Given the description of an element on the screen output the (x, y) to click on. 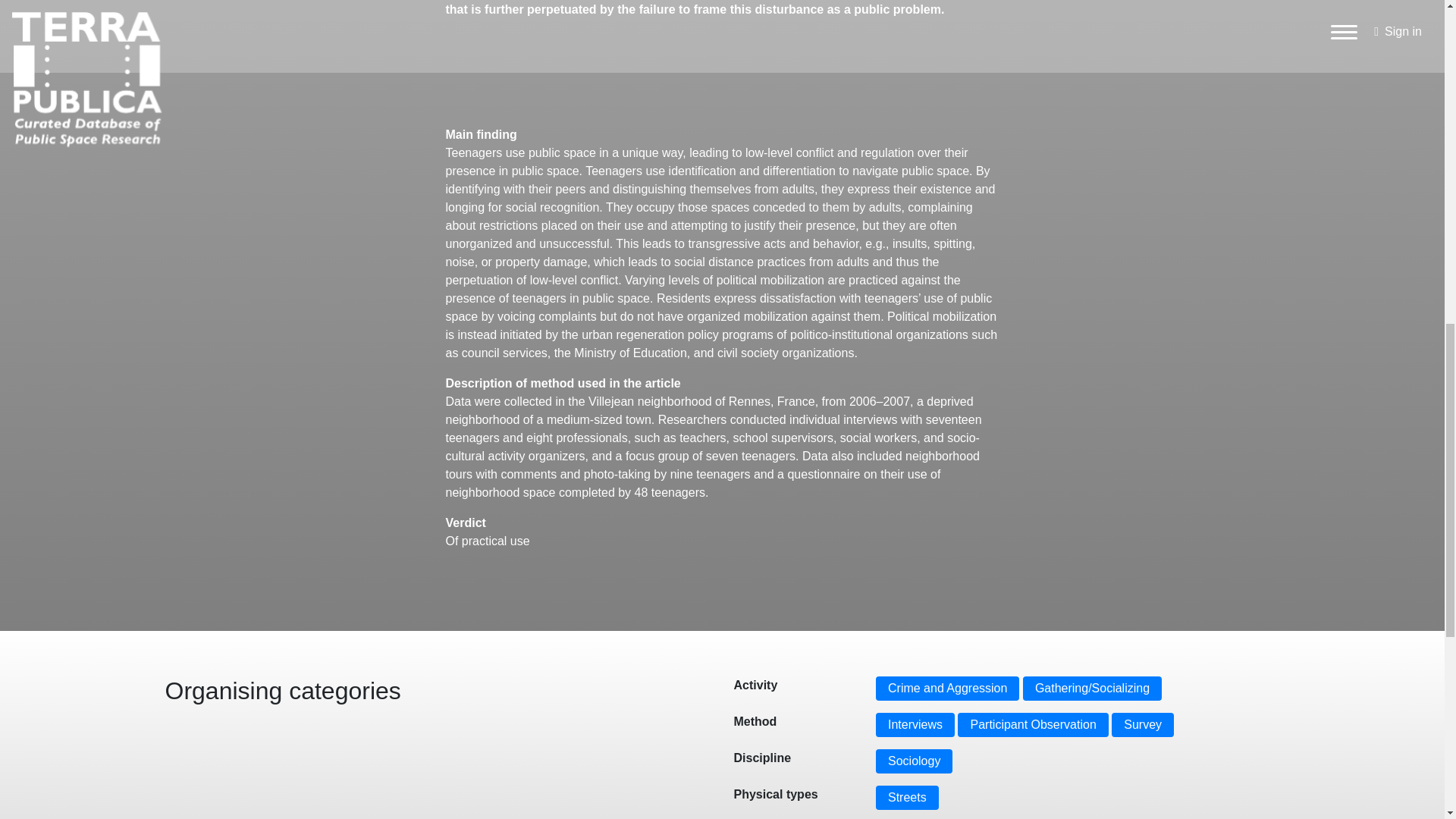
Streets (907, 797)
Interviews (915, 724)
Crime and Aggression (947, 688)
Survey (1142, 724)
Participant Observation (1033, 724)
Sociology (914, 761)
